Given the description of an element on the screen output the (x, y) to click on. 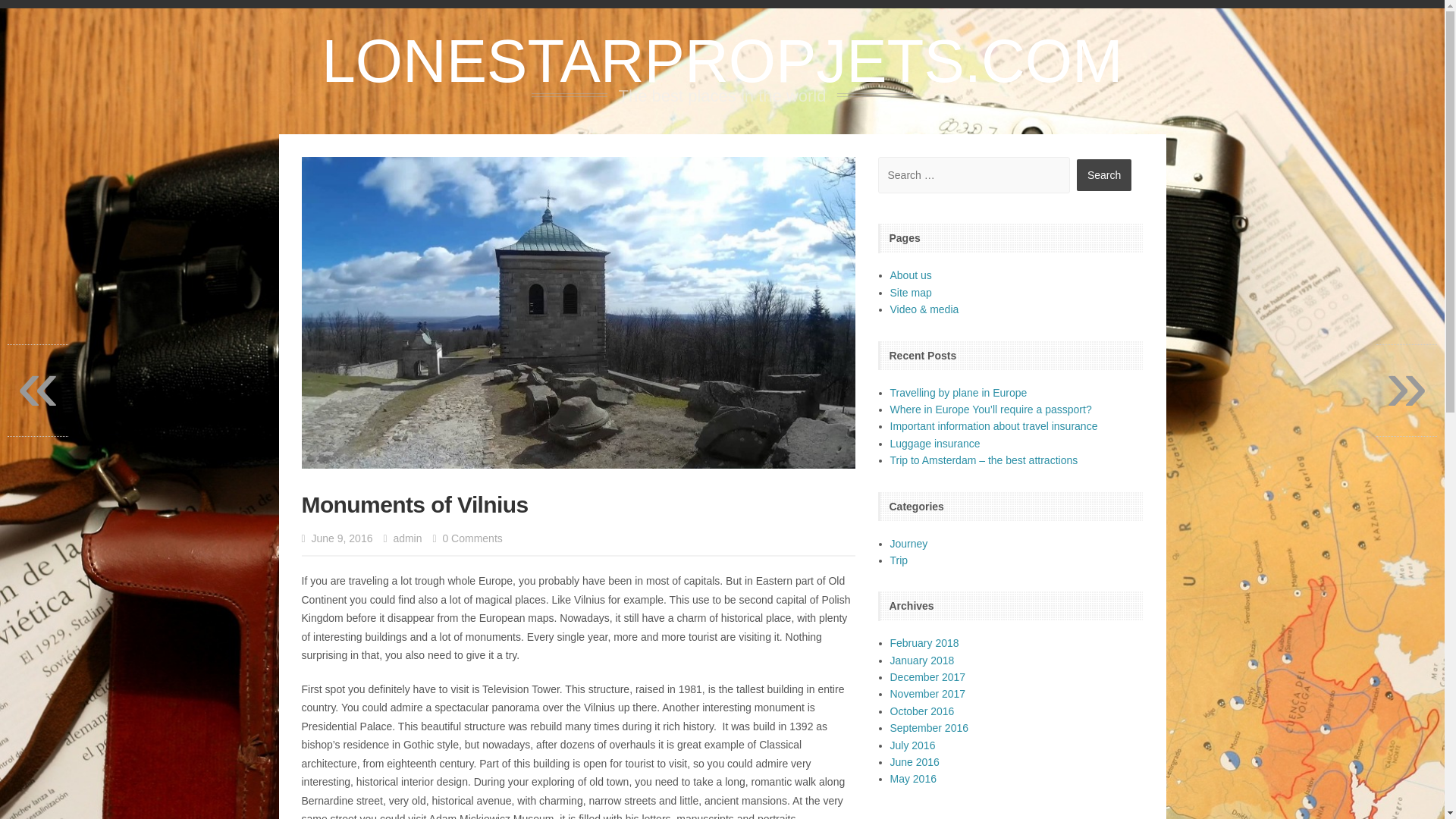
Luggage insurance (934, 443)
October 2016 (922, 711)
May 2016 (912, 778)
Travelling by plane in Europe (958, 392)
LONESTARPROPJETS.COM (721, 61)
June 2016 (914, 761)
July 2016 (912, 745)
About us (910, 275)
Search (1104, 174)
Important information about travel insurance (993, 426)
